Given the description of an element on the screen output the (x, y) to click on. 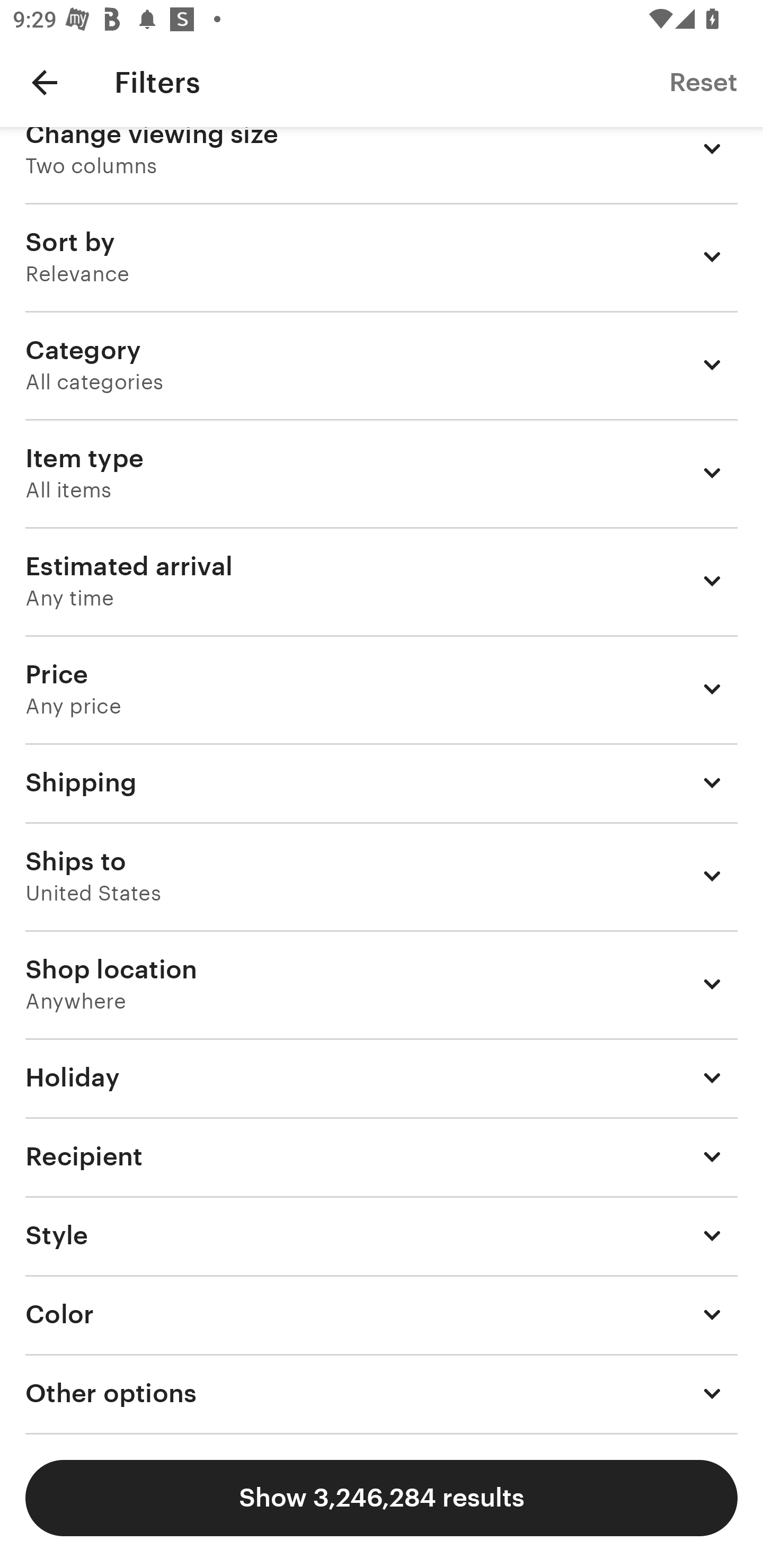
Navigate up (44, 82)
Reset (703, 81)
Change viewing size Two columns (381, 164)
Sort by Relevance (381, 256)
Category All categories (381, 364)
Item type All items (381, 472)
Estimated arrival Any time (381, 580)
Price Any price (381, 689)
Shipping (381, 782)
Ships to United States (381, 875)
Shop location Anywhere (381, 983)
Holiday (381, 1077)
Recipient (381, 1156)
Style (381, 1235)
Color (381, 1314)
Other options (381, 1393)
Show 3,246,284 results Show results (381, 1497)
